Given the description of an element on the screen output the (x, y) to click on. 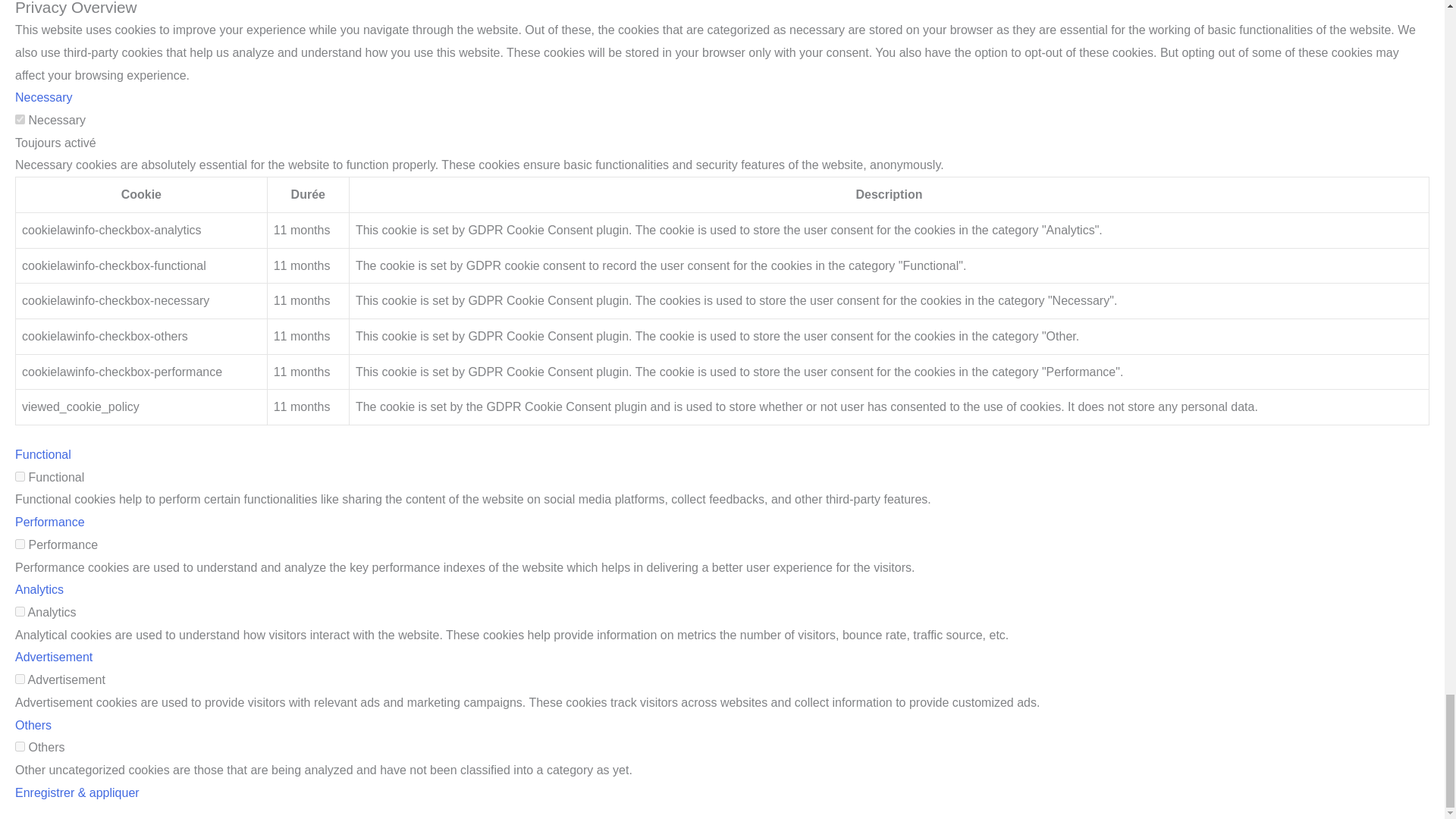
on (19, 476)
on (19, 611)
on (19, 119)
on (19, 543)
on (19, 678)
on (19, 746)
